Given the description of an element on the screen output the (x, y) to click on. 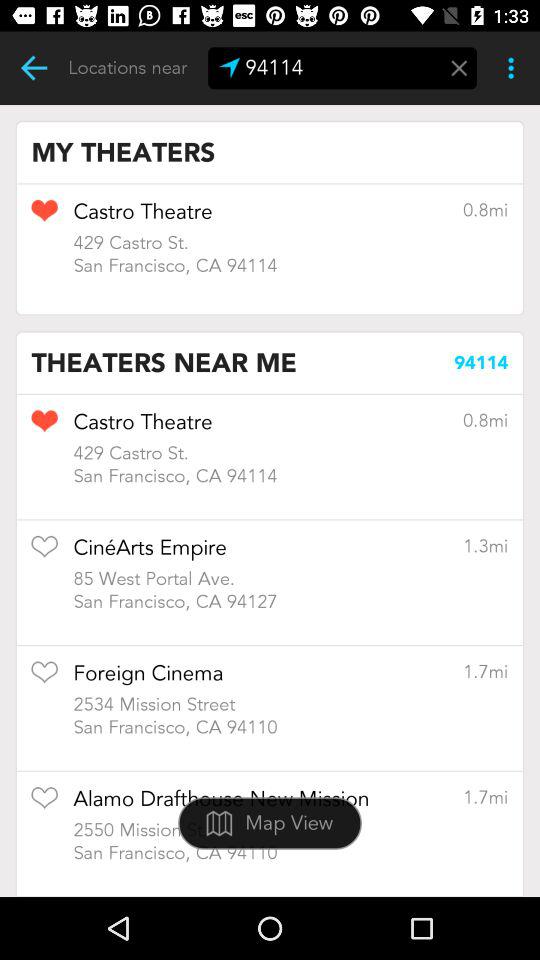
go to light simple (34, 67)
